Given the description of an element on the screen output the (x, y) to click on. 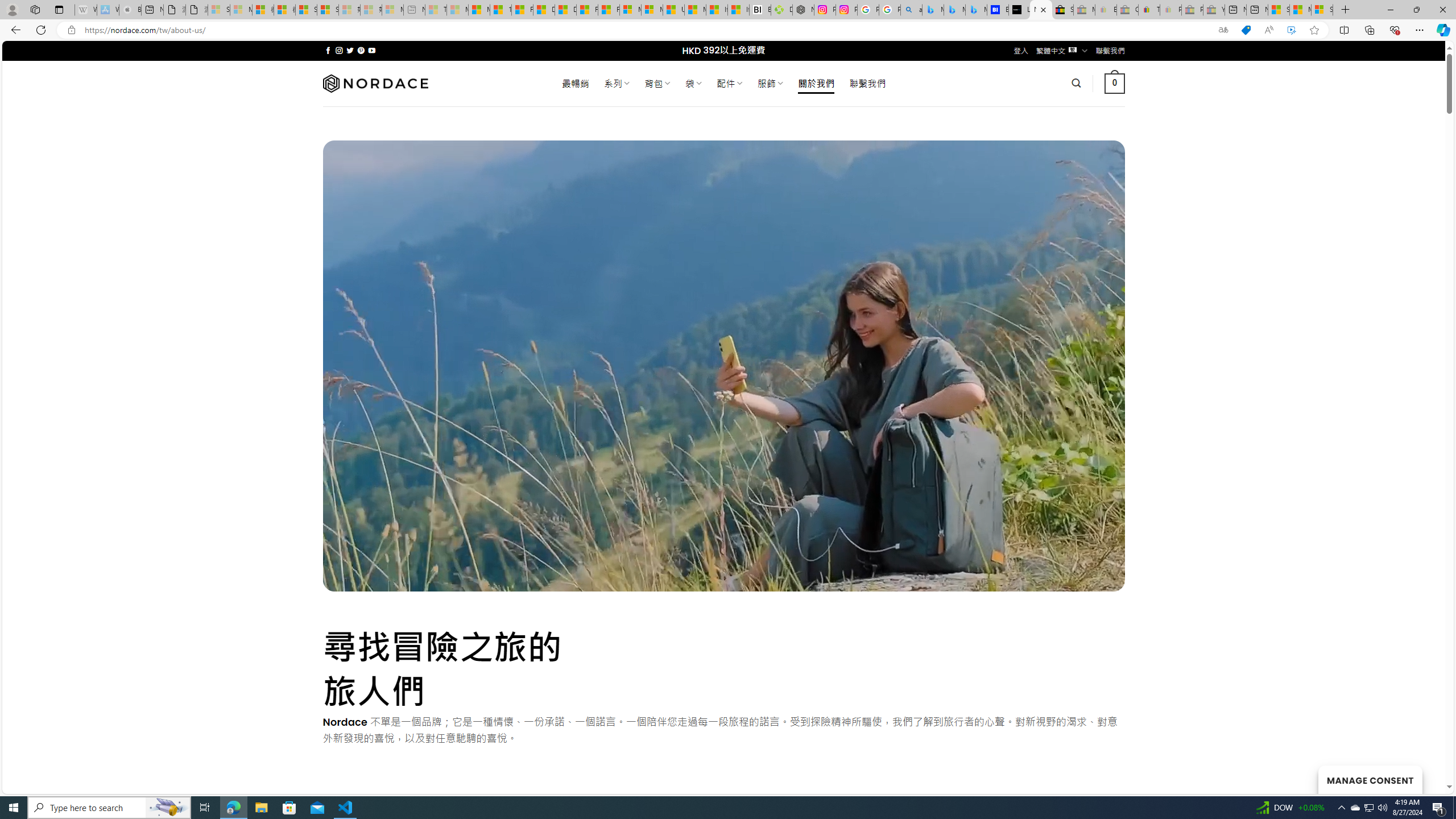
Top Stories - MSN - Sleeping (435, 9)
  0   (1115, 83)
Shanghai, China hourly forecast | Microsoft Weather (1278, 9)
